Given the description of an element on the screen output the (x, y) to click on. 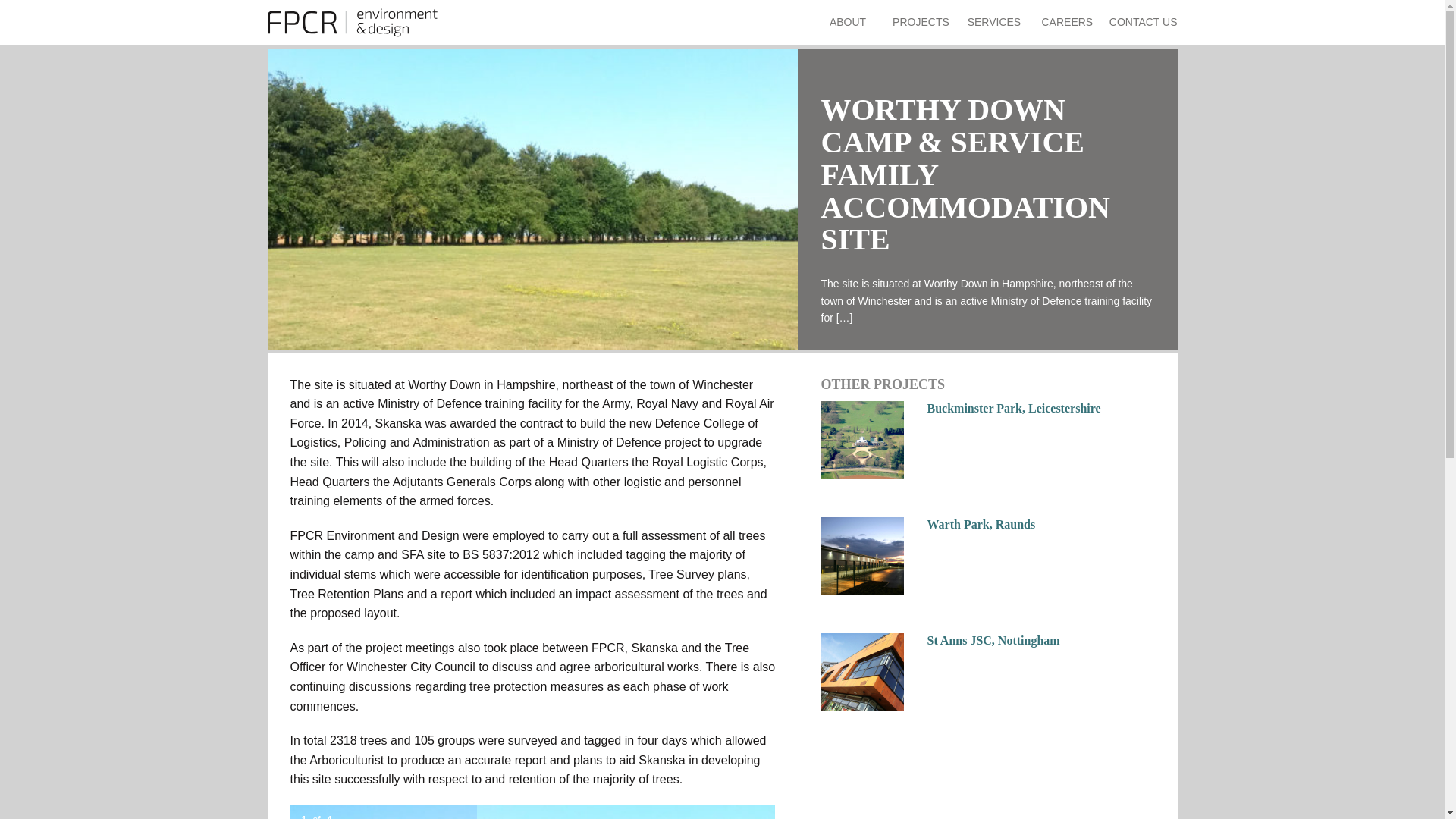
ABOUT (847, 22)
Buckminster Park, Leicestershire (1013, 408)
Warth Park, Raunds (980, 523)
SERVICES (993, 22)
PROJECTS (920, 22)
St Anns JSC, Nottingham (992, 640)
CAREERS (1066, 22)
CONTACT US (1143, 22)
